Given the description of an element on the screen output the (x, y) to click on. 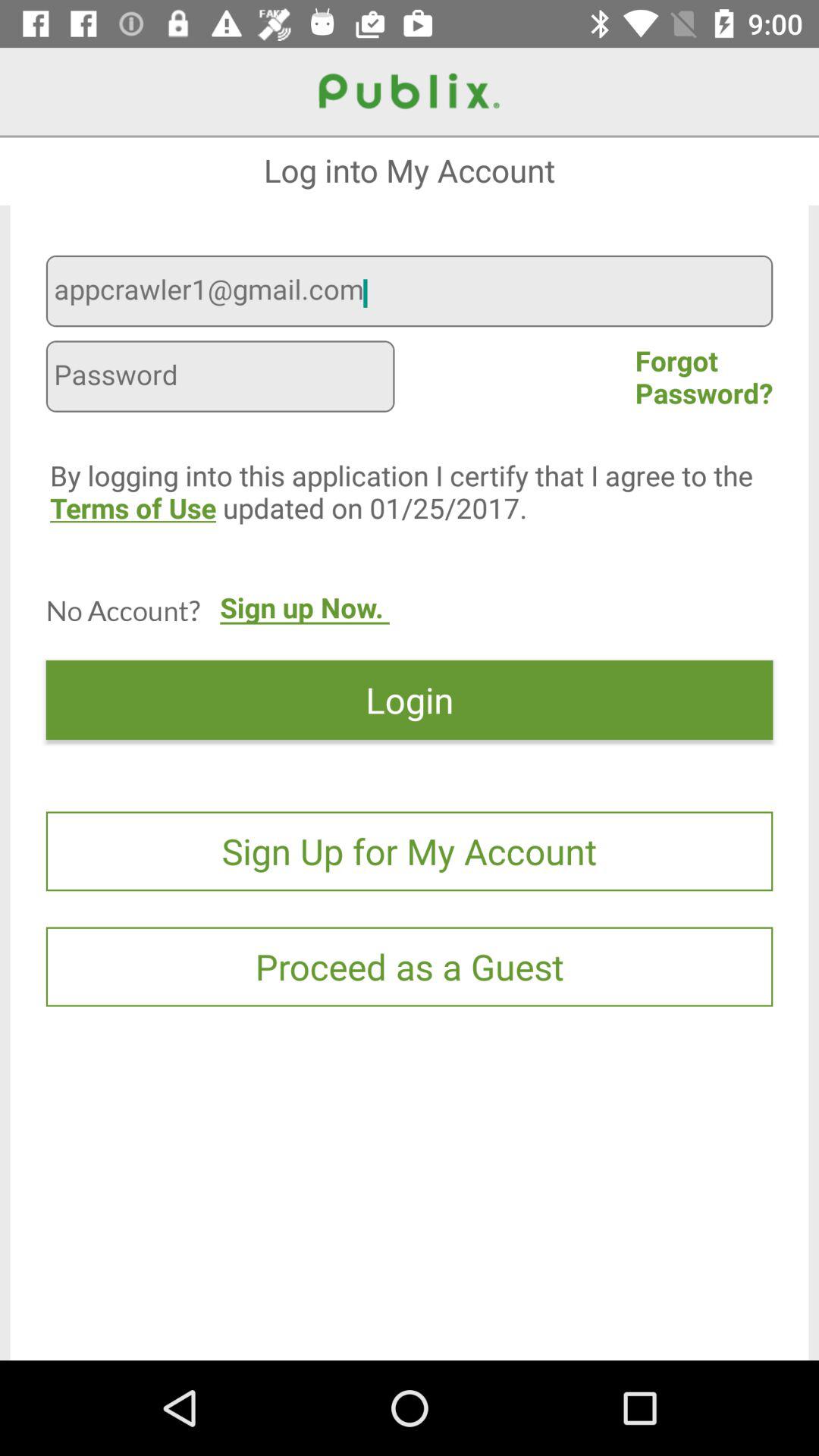
flip to by logging into (419, 524)
